Given the description of an element on the screen output the (x, y) to click on. 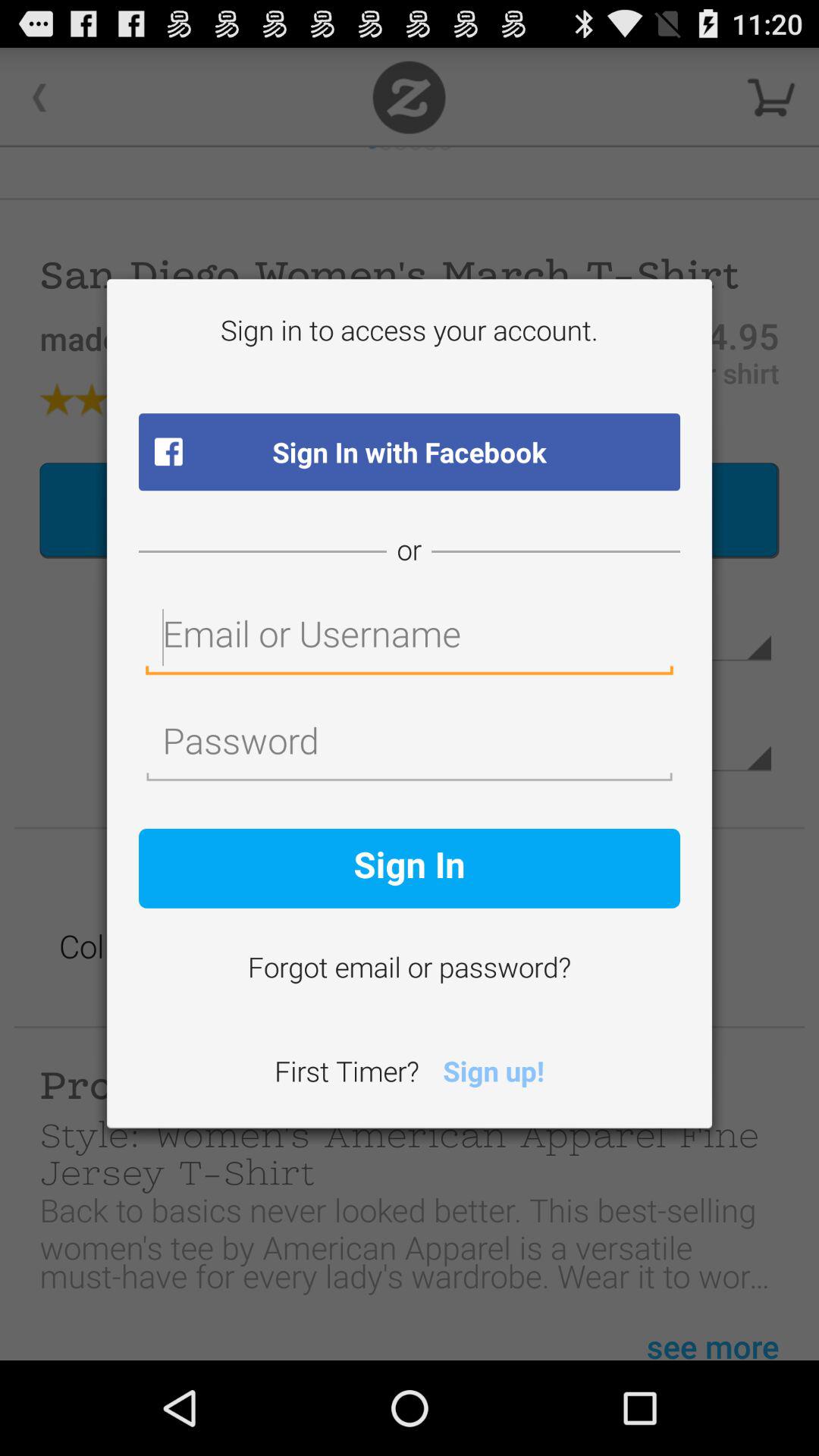
area to enter your email or username (409, 637)
